Given the description of an element on the screen output the (x, y) to click on. 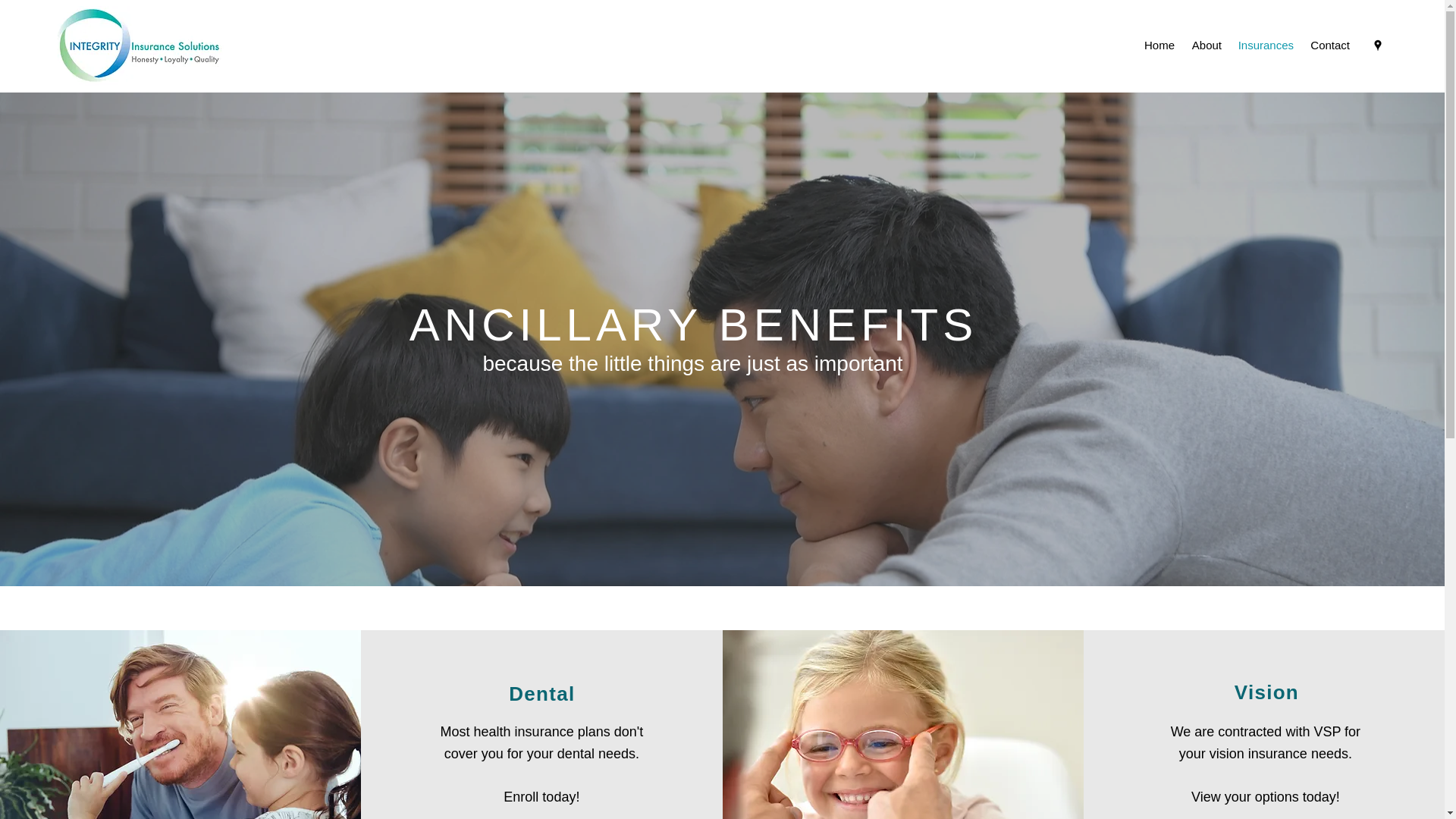
Contact (1328, 45)
Insurances (1264, 45)
About (1205, 45)
Home (1158, 45)
